Given the description of an element on the screen output the (x, y) to click on. 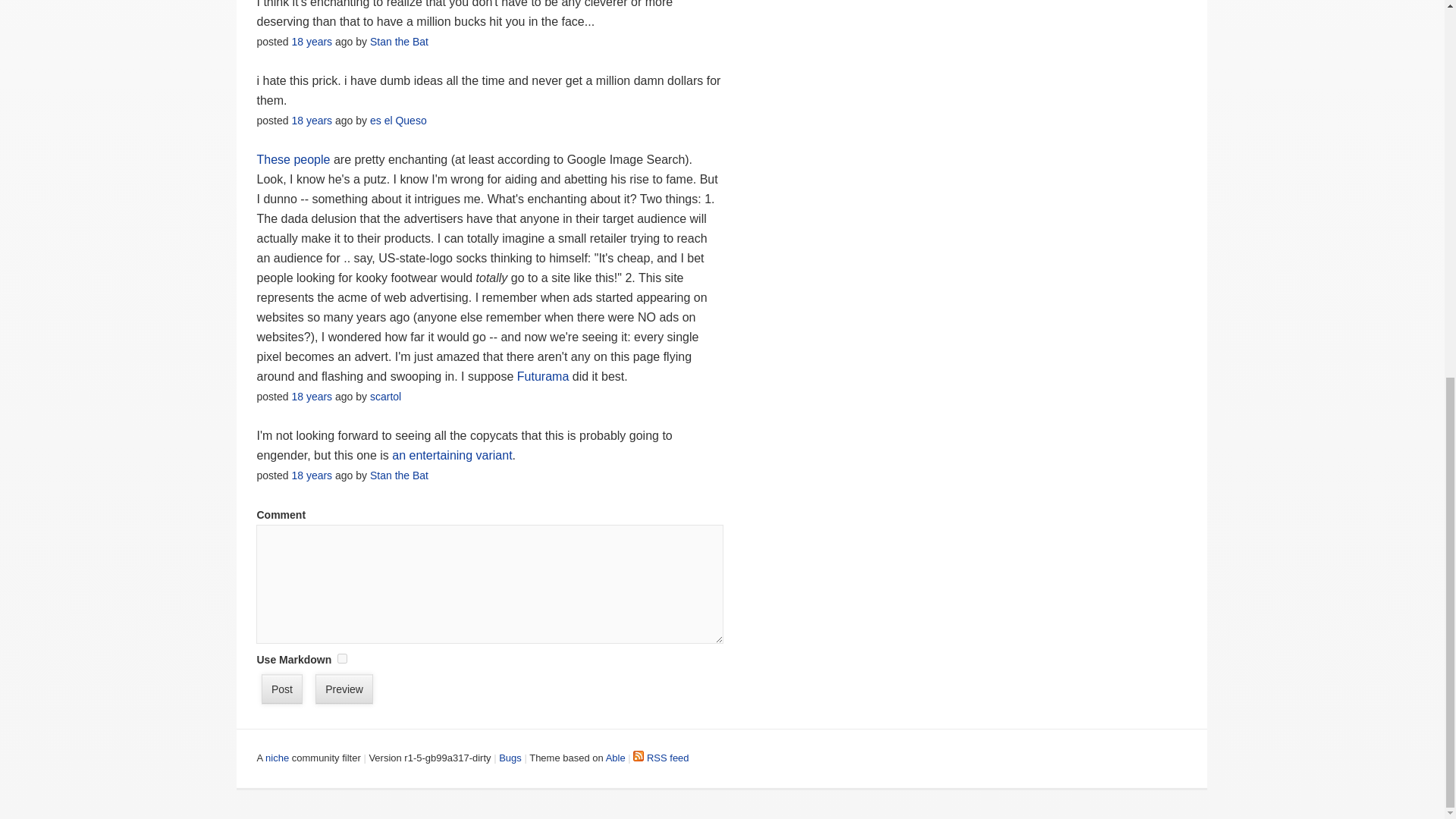
Stan the Bat (398, 475)
18 years (311, 41)
RSS feed (660, 757)
an entertaining variant (451, 454)
18 years (311, 120)
Preview (343, 689)
Able (615, 757)
scartol (385, 396)
18 years (311, 475)
These people (293, 159)
